Given the description of an element on the screen output the (x, y) to click on. 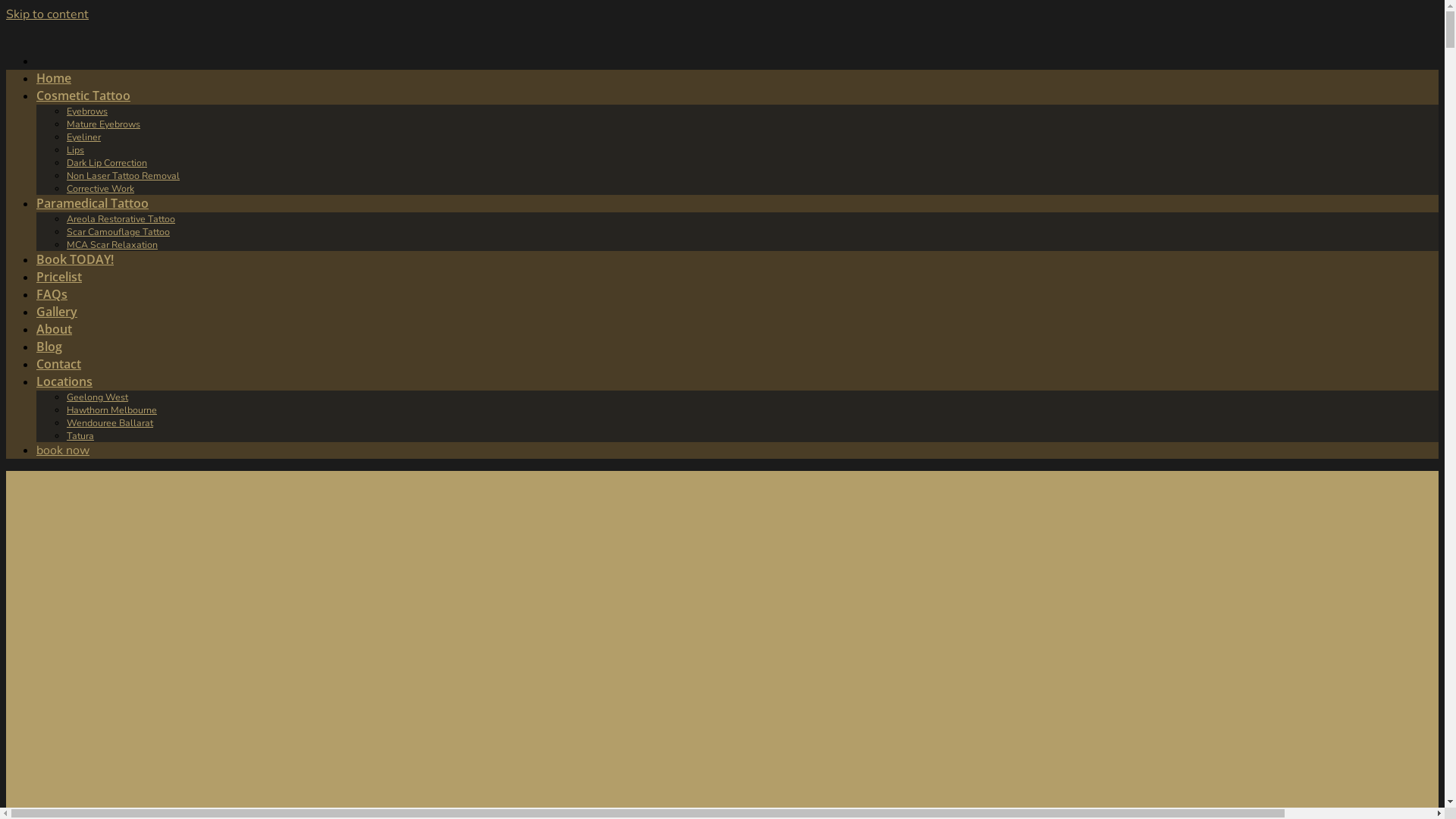
FAQs Element type: text (51, 293)
Wendouree Ballarat Element type: text (109, 422)
Geelong West Element type: text (97, 396)
Contact Element type: text (58, 363)
book now Element type: text (62, 450)
Home Element type: text (53, 77)
Lips Element type: text (75, 149)
Mature Eyebrows Element type: text (103, 123)
Gallery Element type: text (56, 311)
Scar Camouflage Tattoo Element type: text (117, 231)
Areola Restorative Tattoo Element type: text (120, 218)
Corrective Work Element type: text (100, 188)
Book TODAY! Element type: text (74, 259)
Dark Lip Correction Element type: text (106, 162)
About Element type: text (54, 328)
Non Laser Tattoo Removal Element type: text (122, 175)
Blog Element type: text (49, 346)
Cosmetic Tattoo Element type: text (83, 95)
Tatura Element type: text (80, 435)
Paramedical Tattoo Element type: text (92, 202)
Eyeliner Element type: text (83, 136)
Eyebrows Element type: text (86, 110)
Hawthorn Melbourne Element type: text (111, 409)
Skip to content Element type: text (47, 14)
MCA Scar Relaxation Element type: text (111, 244)
Locations Element type: text (64, 381)
Pricelist Element type: text (58, 276)
